Given the description of an element on the screen output the (x, y) to click on. 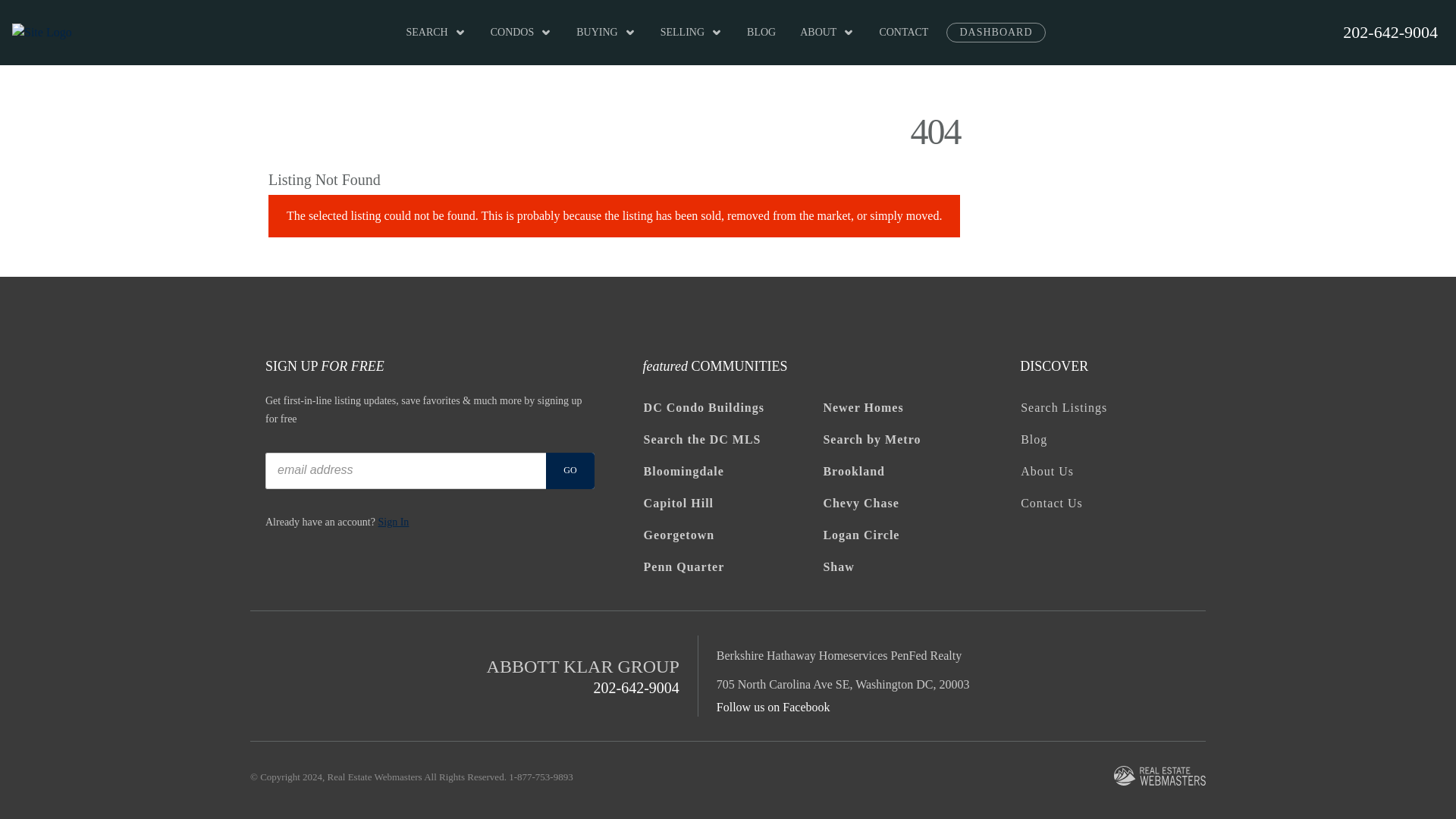
SEARCH (596, 96)
ABOUT (988, 96)
Logan Circle (905, 662)
Bloomingdale (726, 598)
Washington DC MLS (726, 566)
Newer Homes (905, 534)
SELLING (852, 96)
Capitol Hill (726, 630)
Chevy Chase (905, 630)
BUYING (766, 96)
Brookland (905, 598)
Georgetown (726, 662)
DC Condos (726, 534)
Shaw (905, 694)
Sign In (387, 648)
